Given the description of an element on the screen output the (x, y) to click on. 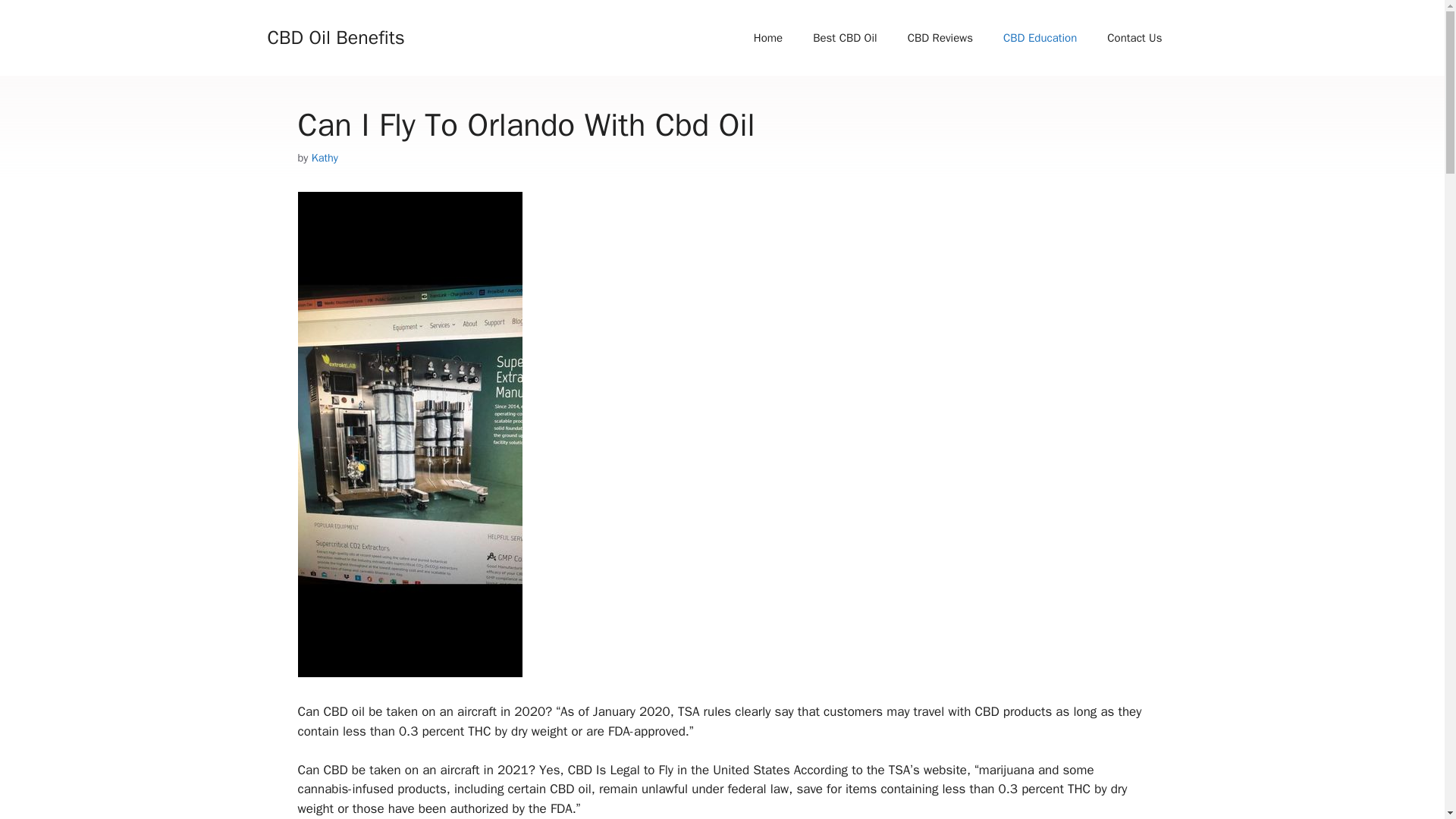
Kathy (324, 157)
CBD Reviews (940, 37)
CBD Education (1040, 37)
View all posts by Kathy (324, 157)
Contact Us (1134, 37)
Best CBD Oil (844, 37)
CBD Oil Benefits (335, 37)
Home (767, 37)
